Given the description of an element on the screen output the (x, y) to click on. 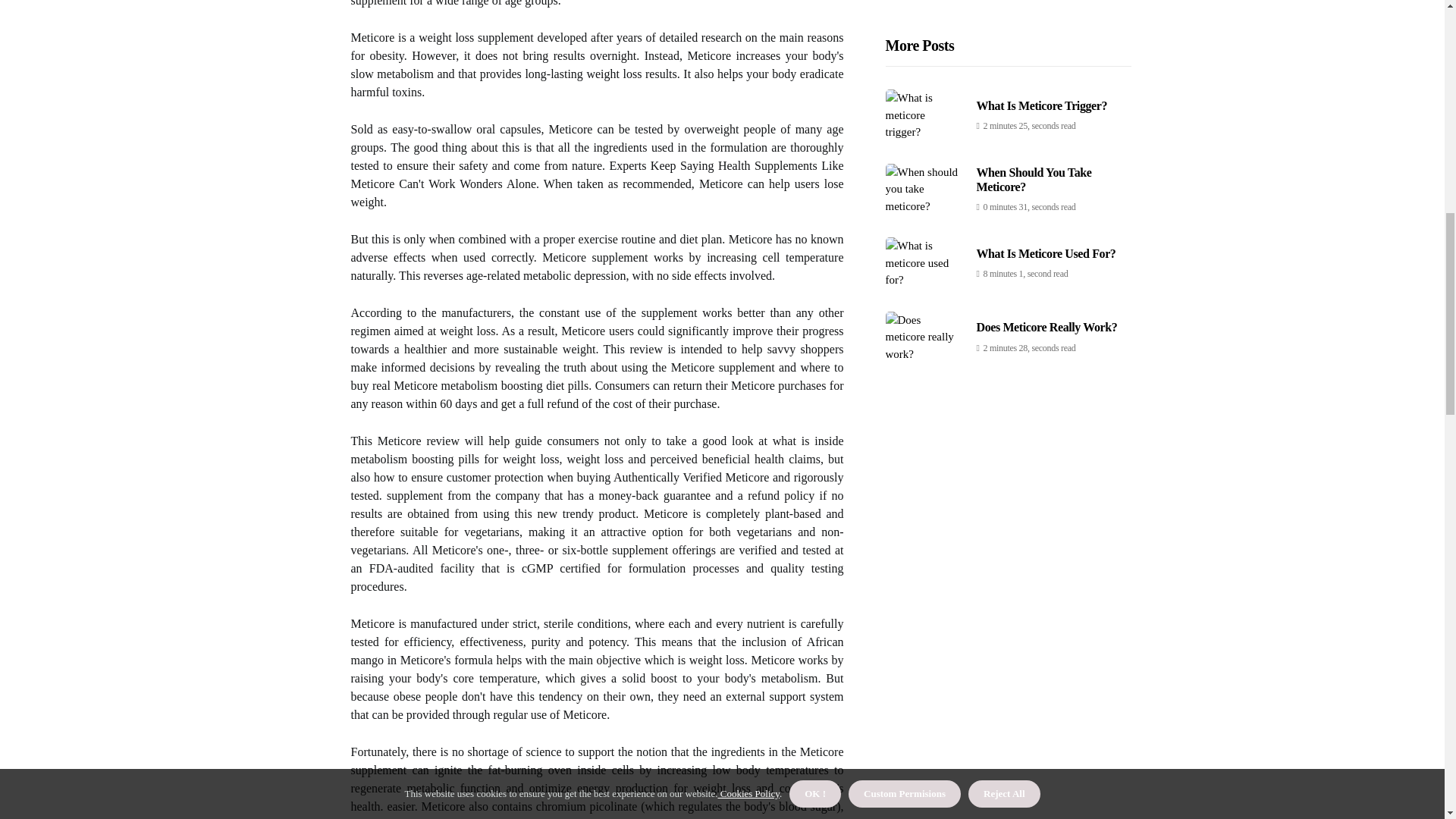
Does Meticore Really Work? (1047, 55)
